Given the description of an element on the screen output the (x, y) to click on. 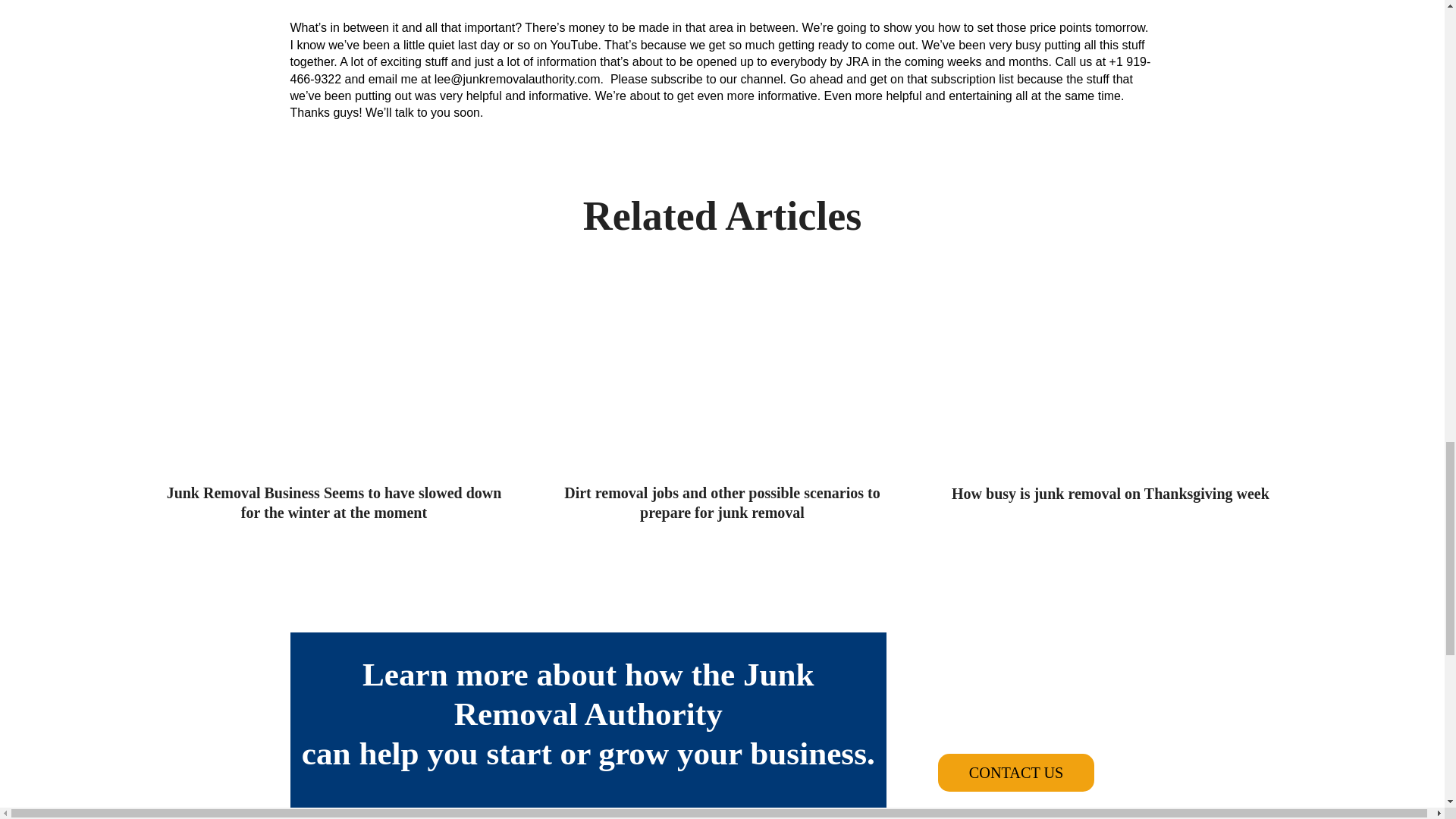
CONTACT US (1015, 772)
How busy is junk removal on Thanksgiving week (1109, 393)
